Given the description of an element on the screen output the (x, y) to click on. 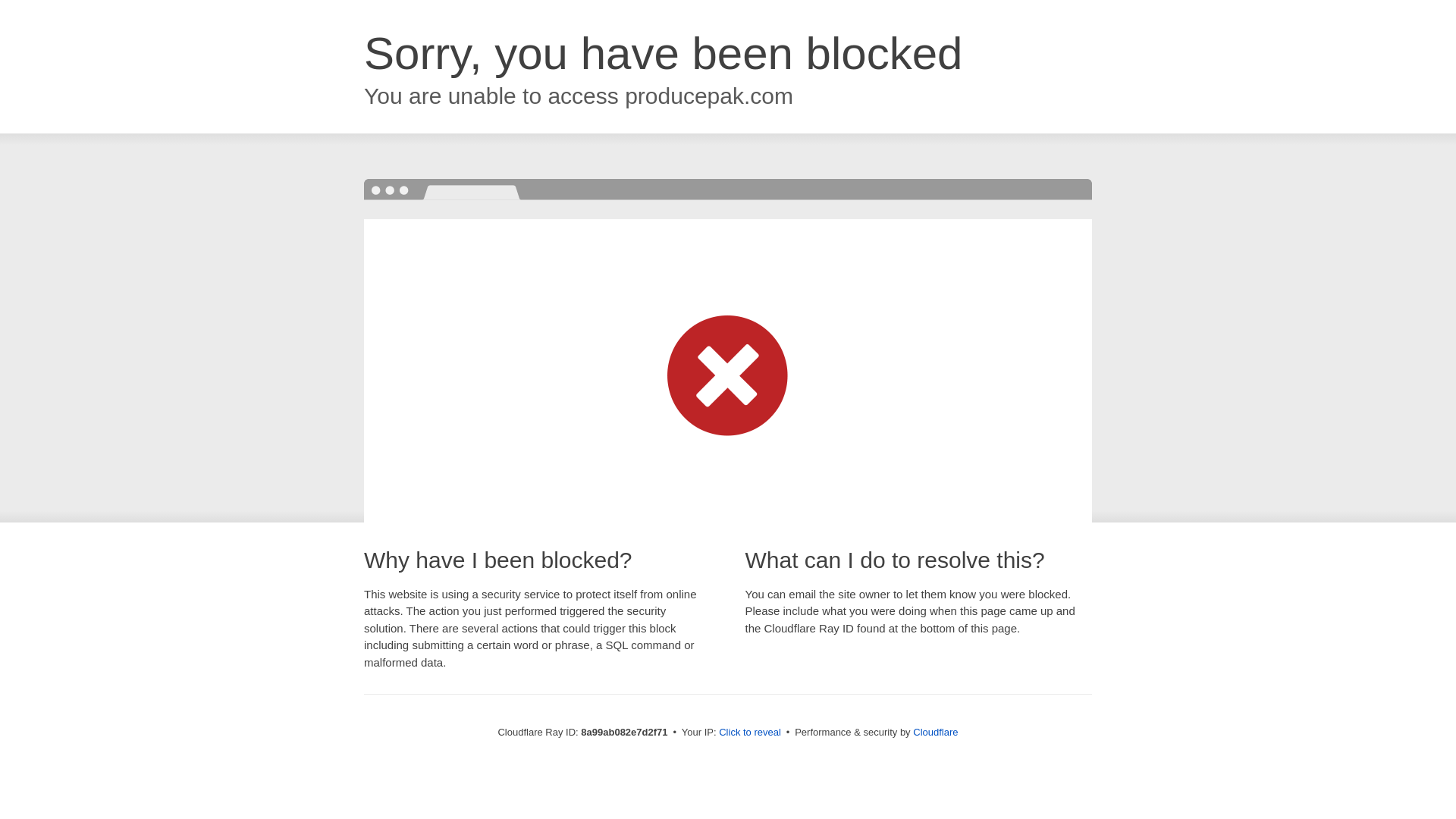
Click to reveal (749, 732)
Cloudflare (935, 731)
